Given the description of an element on the screen output the (x, y) to click on. 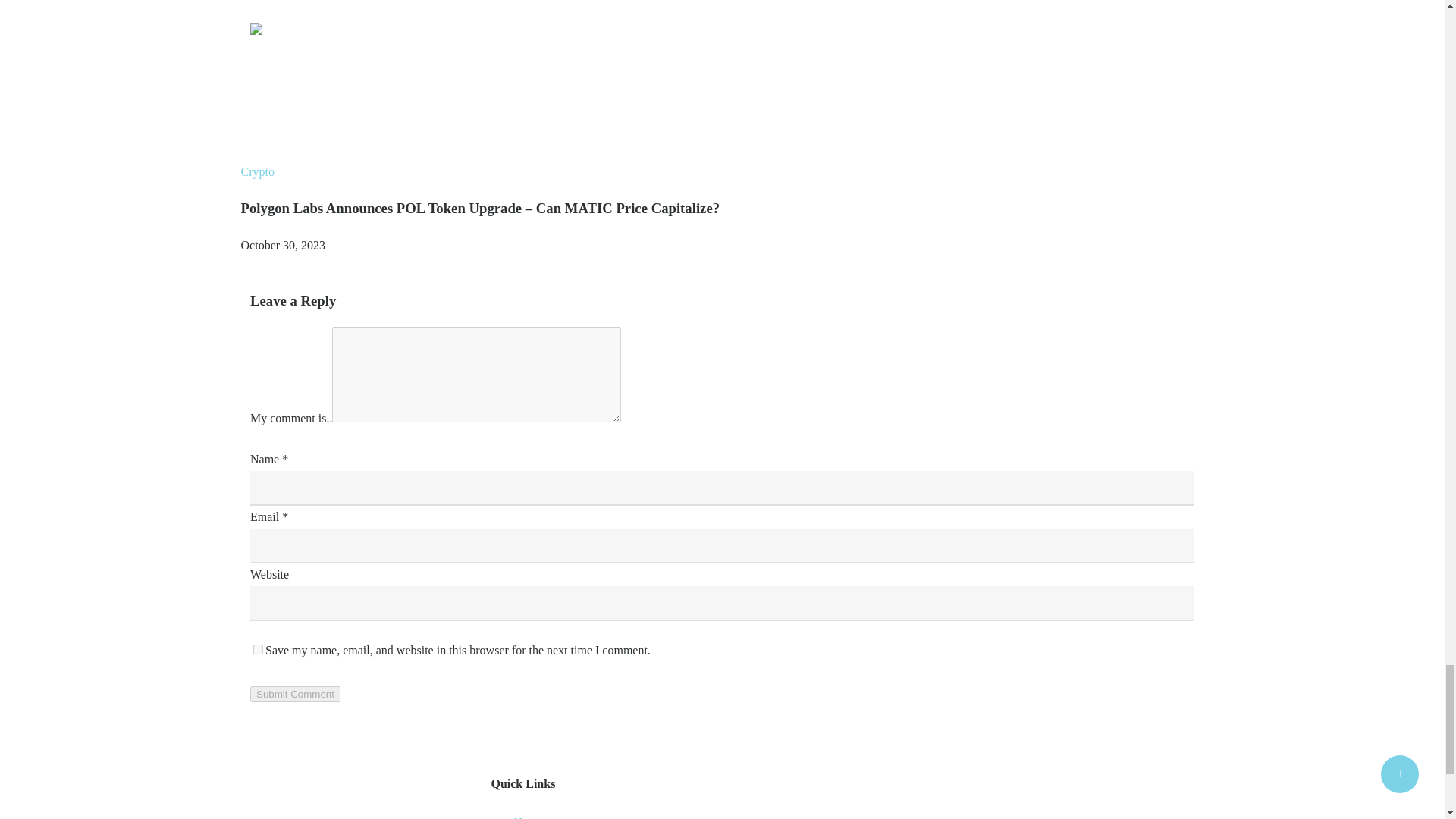
Home (528, 817)
Crypto (258, 171)
Submit Comment (295, 693)
Submit Comment (295, 693)
yes (258, 649)
